Given the description of an element on the screen output the (x, y) to click on. 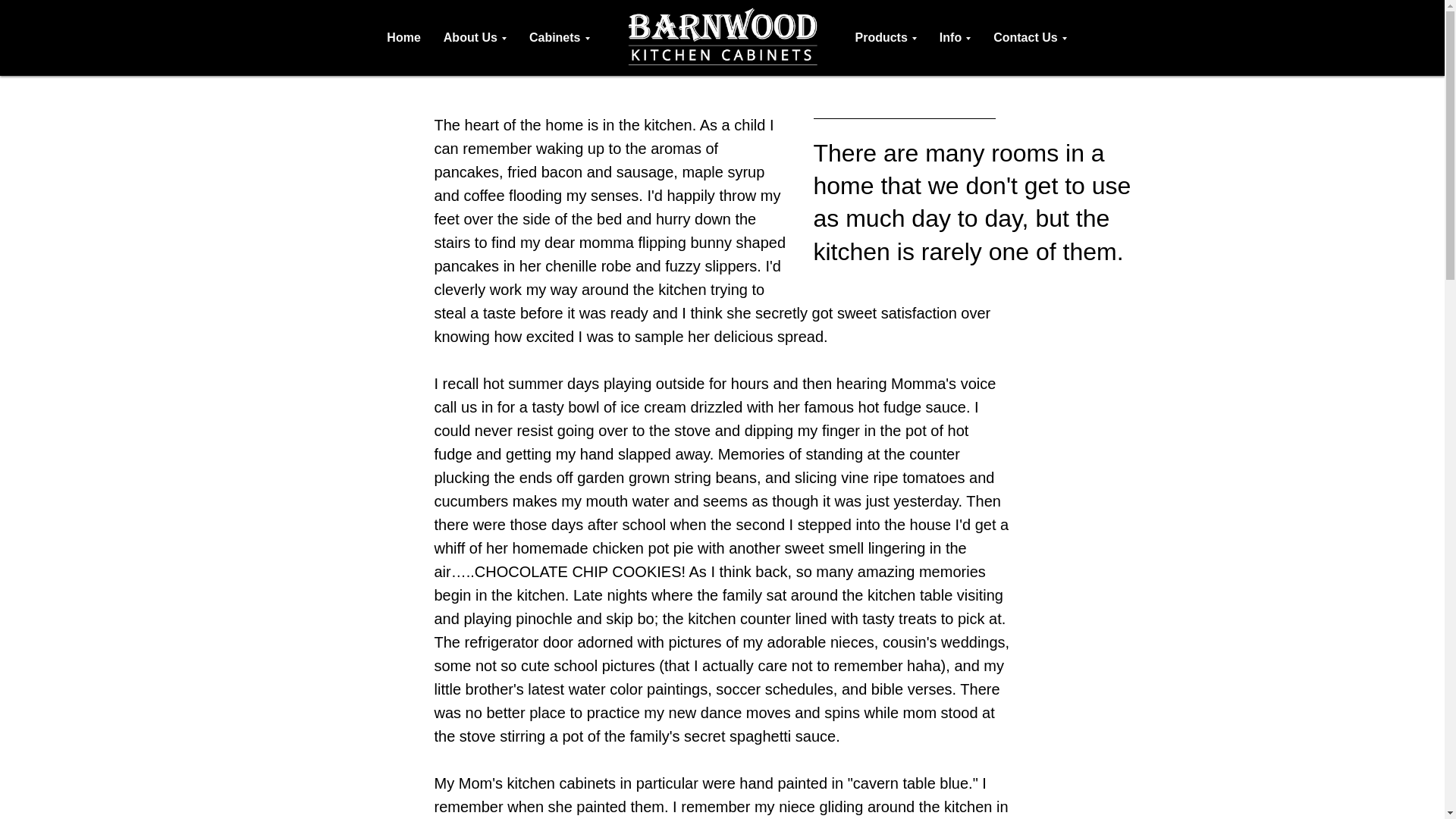
Contact Us (1028, 37)
About Us (475, 37)
Cabinets (559, 37)
Products (886, 37)
Home (403, 37)
Info (955, 37)
